Given the description of an element on the screen output the (x, y) to click on. 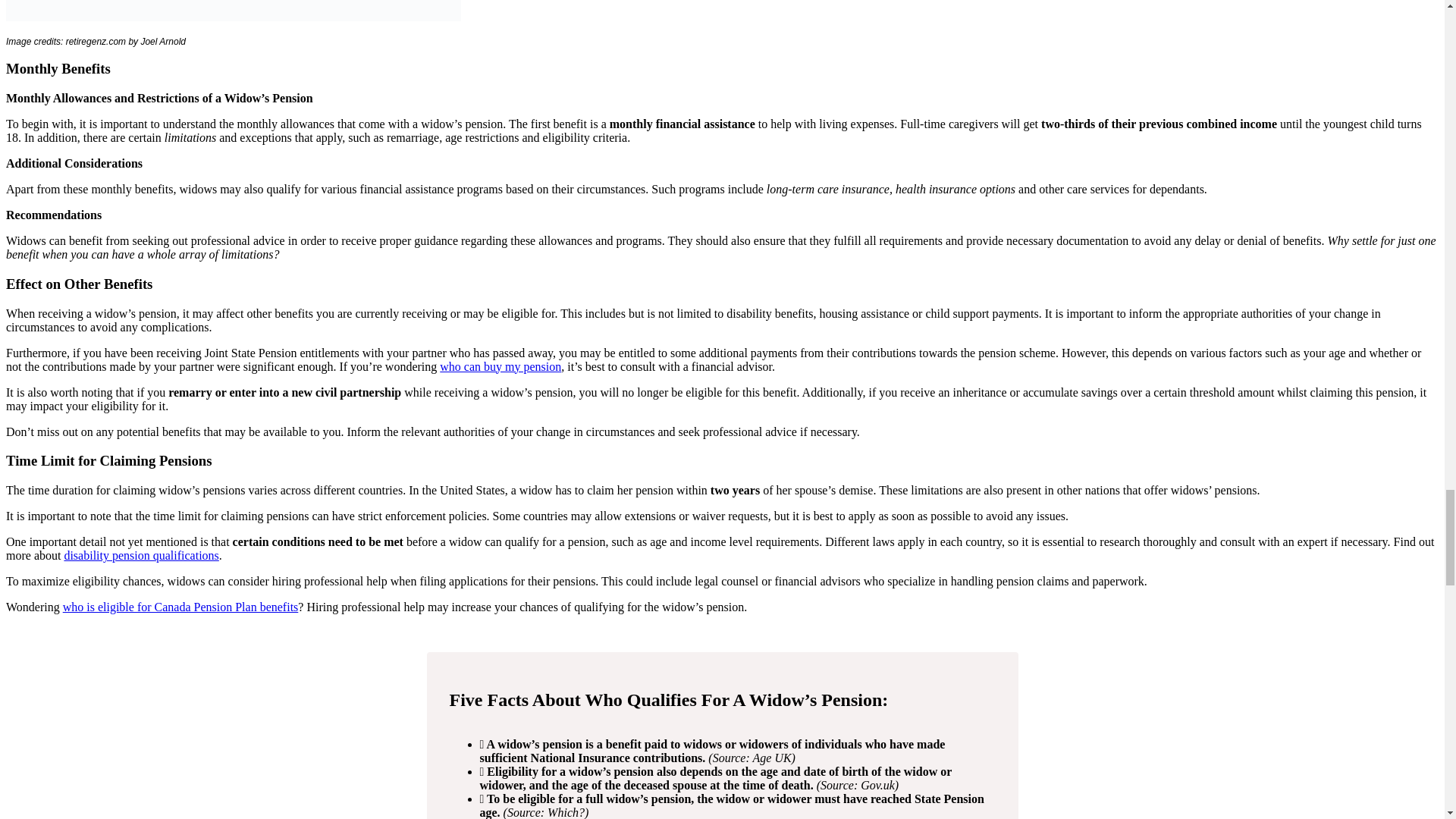
who can buy my pension (499, 366)
disability pension qualifications (141, 554)
who is eligible for Canada Pension Plan benefits (180, 606)
